Given the description of an element on the screen output the (x, y) to click on. 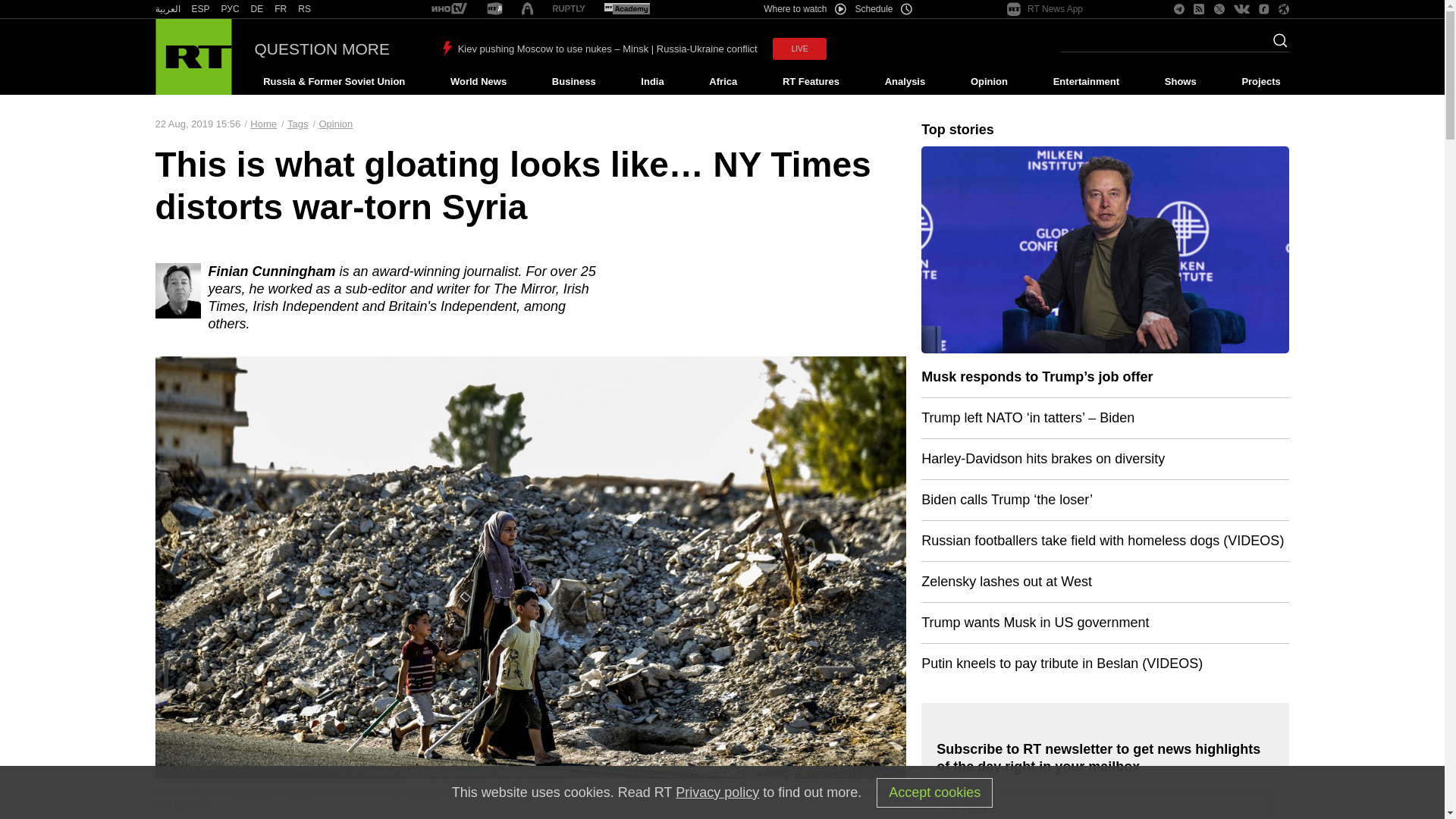
RT  (230, 9)
Business (573, 81)
RS (304, 9)
Africa (722, 81)
RT  (166, 9)
Search (1276, 44)
India (651, 81)
Projects (1261, 81)
RT  (626, 9)
Entertainment (1085, 81)
